Given the description of an element on the screen output the (x, y) to click on. 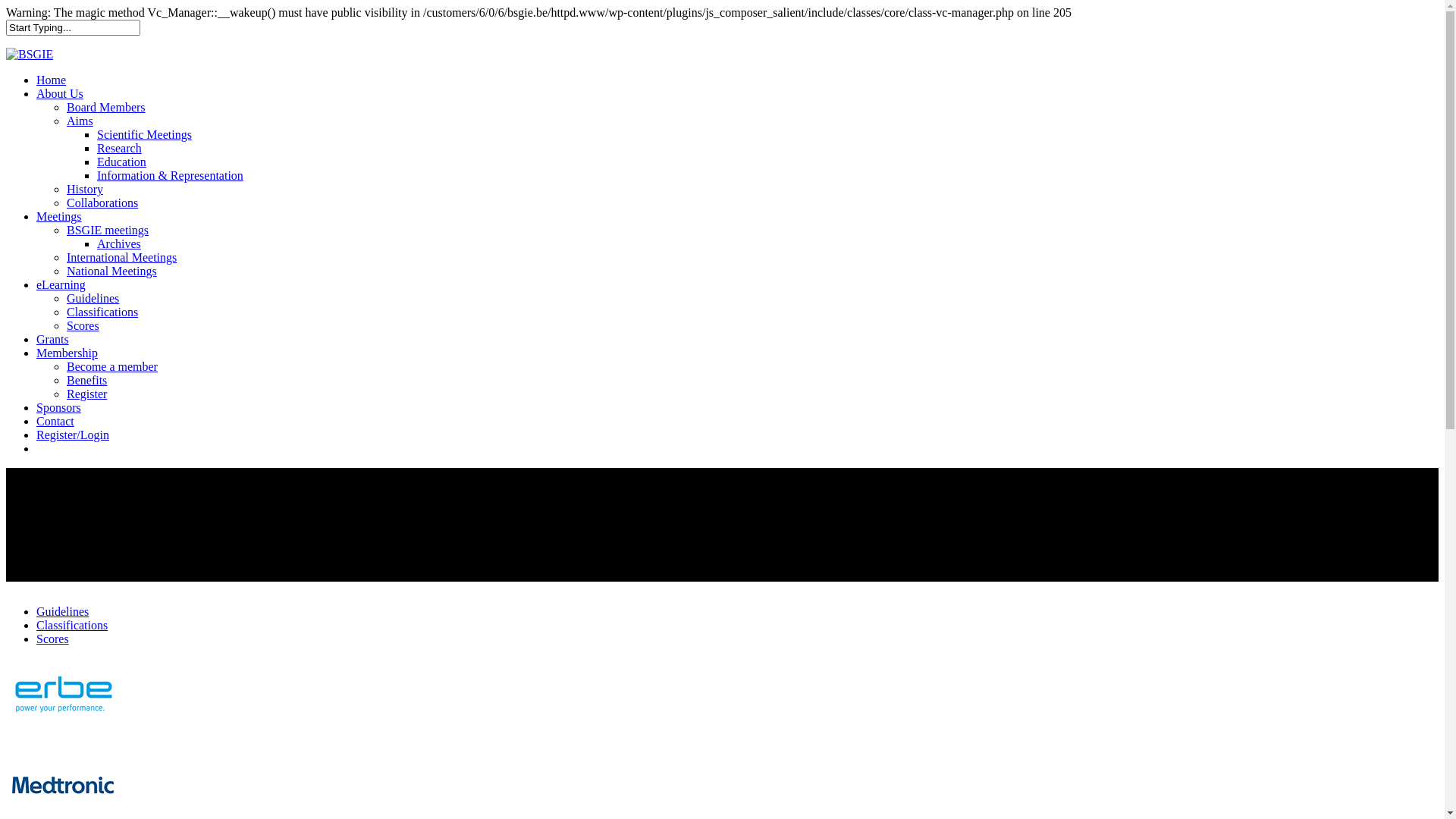
Classifications Element type: text (71, 624)
Membership Element type: text (66, 352)
Education Element type: text (121, 161)
Guidelines Element type: text (62, 611)
Scientific Meetings Element type: text (144, 134)
BSGIE meetings Element type: text (107, 229)
Register Element type: text (86, 393)
Classifications Element type: text (102, 311)
eLearning Element type: text (60, 284)
National Meetings Element type: text (111, 270)
Become a member Element type: text (111, 366)
Contact Element type: text (55, 420)
History Element type: text (84, 188)
Register/Login Element type: text (72, 434)
Board Members Element type: text (105, 106)
Grants Element type: text (52, 338)
Archives Element type: text (119, 243)
Research Element type: text (119, 147)
Information & Representation Element type: text (170, 175)
Benefits Element type: text (86, 379)
Collaborations Element type: text (102, 202)
Guidelines Element type: text (92, 297)
Scores Element type: text (52, 638)
Scores Element type: text (82, 325)
Meetings Element type: text (58, 216)
Aims Element type: text (79, 120)
International Meetings Element type: text (121, 257)
About Us Element type: text (59, 93)
Home Element type: text (50, 79)
Sponsors Element type: text (58, 407)
